Given the description of an element on the screen output the (x, y) to click on. 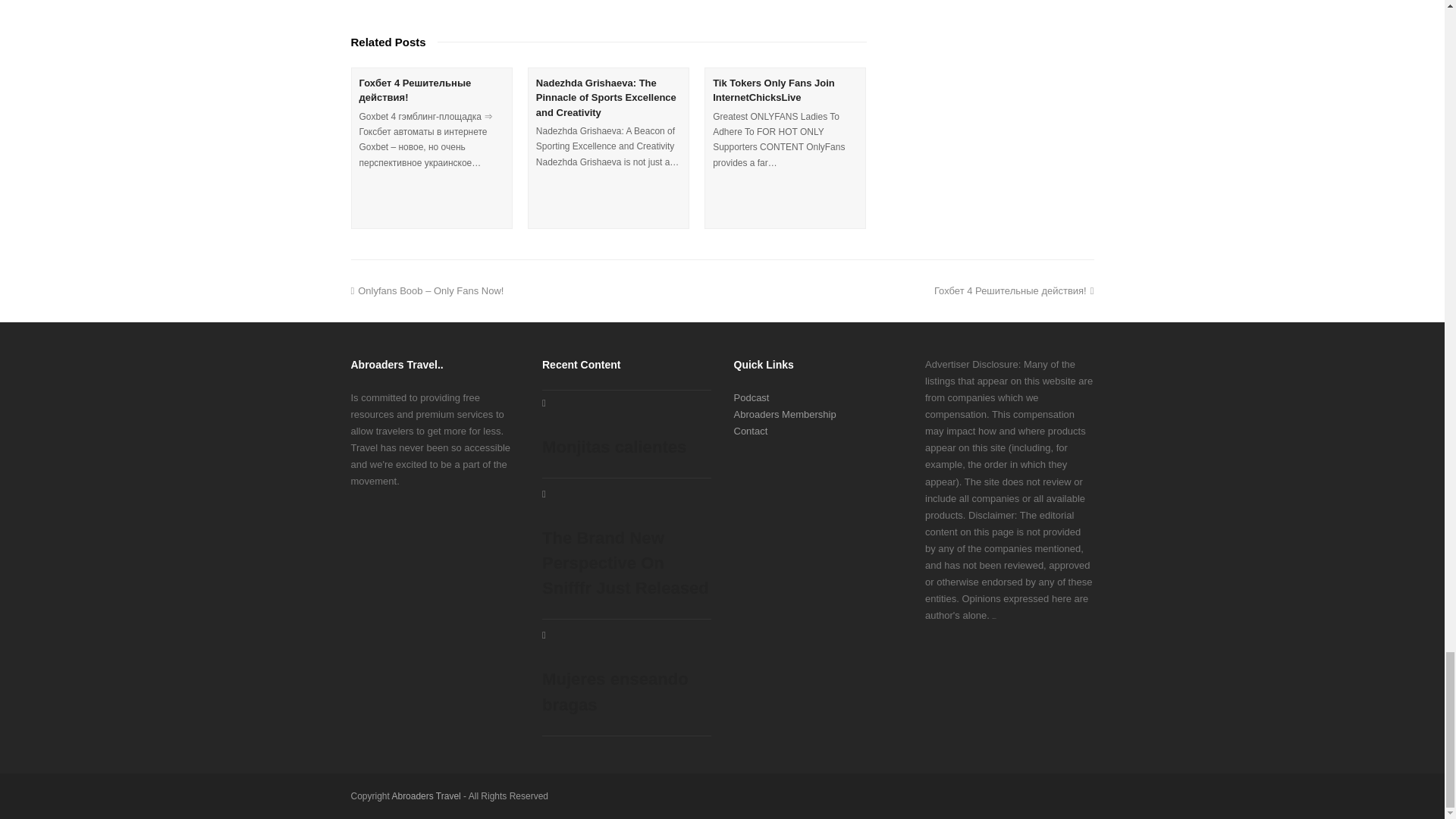
Mujeres enseando bragas (626, 672)
Podcast (751, 397)
Tik Tokers Only Fans Join InternetChicksLive (773, 90)
Tik Tokers Only Fans Join InternetChicksLive (773, 90)
Monjitas calientes (626, 428)
The Brand New Perspective On Snifffr Just Released (626, 544)
